Given the description of an element on the screen output the (x, y) to click on. 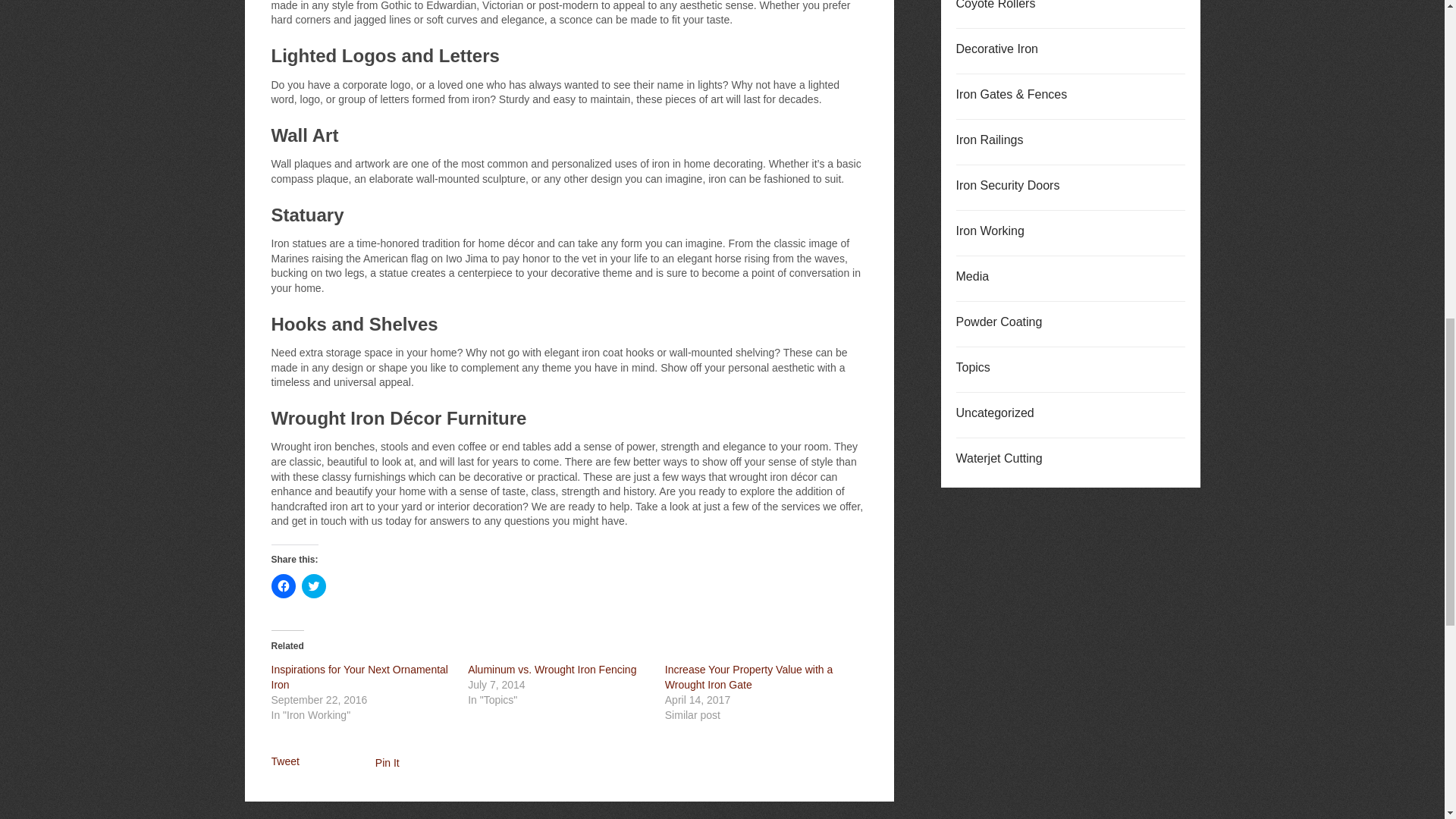
Inspirations for Your Next Ornamental Iron (359, 677)
Click to share on Twitter (313, 586)
Aluminum vs. Wrought Iron Fencing (551, 669)
Click to share on Facebook (282, 586)
Increase Your Property Value with a Wrought Iron Gate (748, 677)
Increase Your Property Value with a Wrought Iron Gate (748, 677)
Aluminum vs. Wrought Iron Fencing (551, 669)
Inspirations for Your Next Ornamental Iron (359, 677)
